Given the description of an element on the screen output the (x, y) to click on. 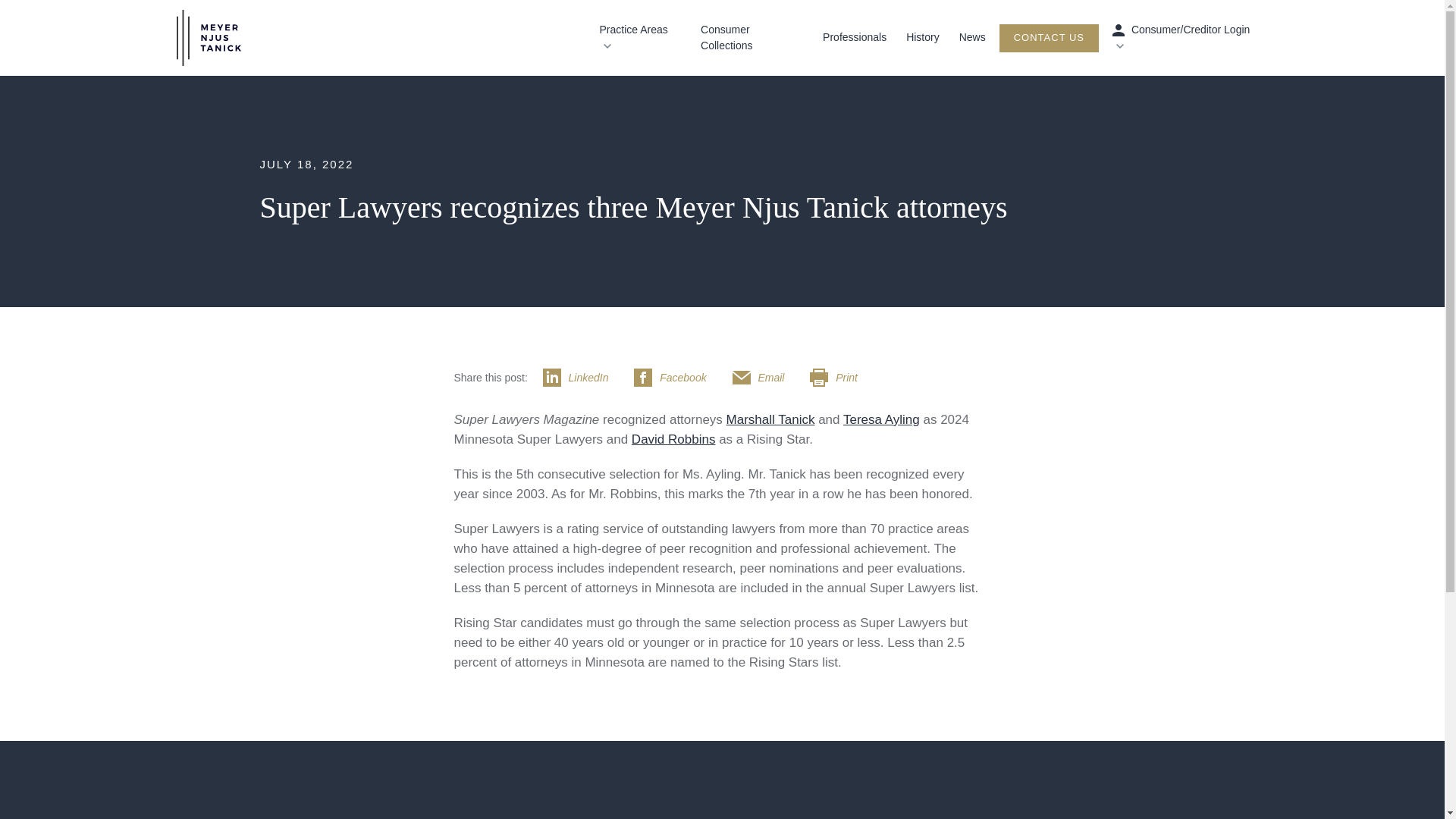
CONTACT US (1048, 38)
Professionals (854, 37)
David Robbins (673, 439)
LinkedIn (583, 377)
Email (765, 377)
Share this article via email (765, 377)
Print this article (840, 377)
History (921, 37)
Print (840, 377)
Marshall Tanick (770, 419)
Consumer Collections (751, 37)
Teresa Ayling (881, 419)
News (972, 37)
Facebook (676, 377)
